Given the description of an element on the screen output the (x, y) to click on. 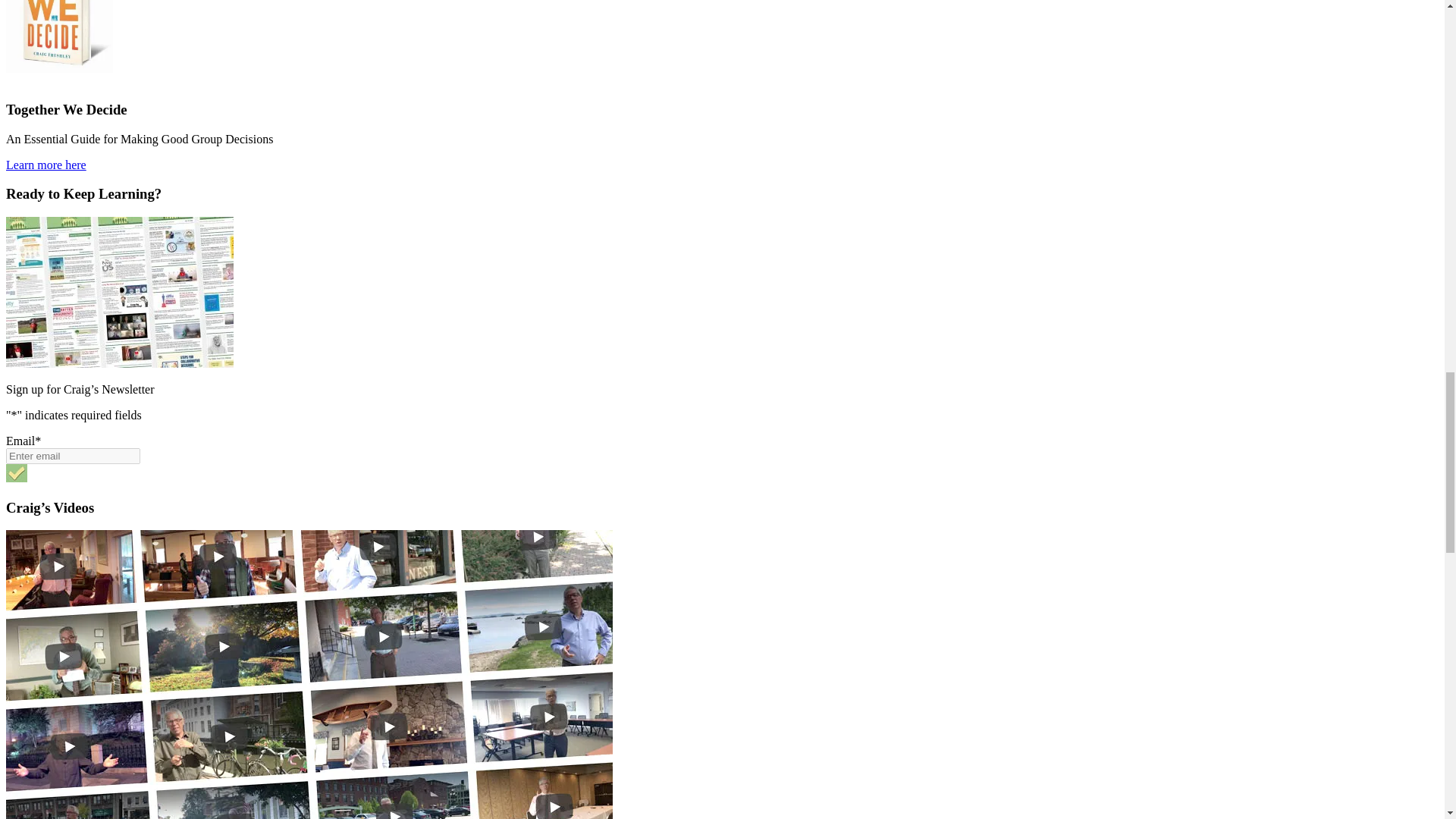
Learn more here (45, 164)
Learn more here (45, 164)
